Given the description of an element on the screen output the (x, y) to click on. 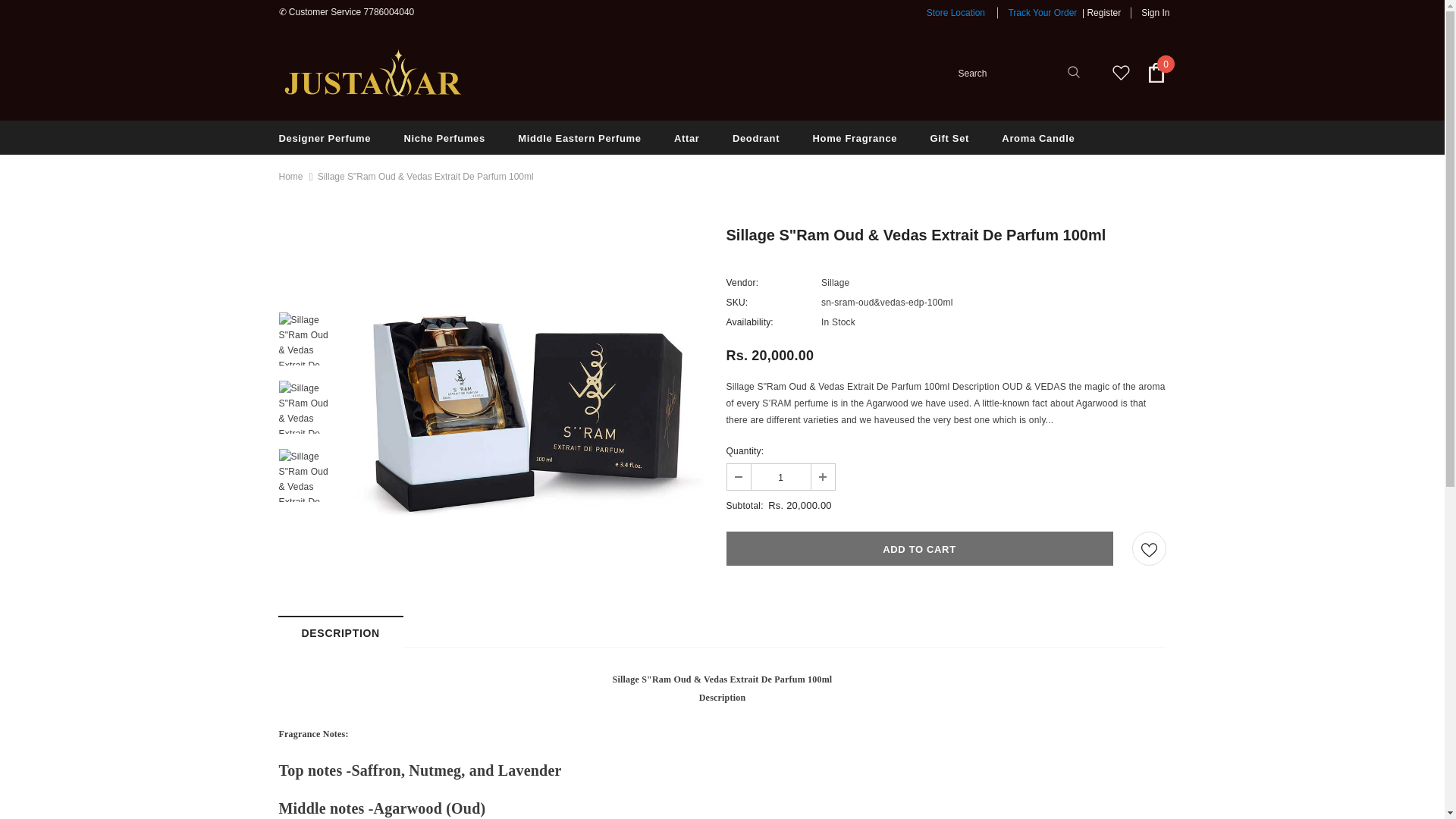
0 (1156, 72)
Logo (373, 72)
Sign In (1150, 12)
1 (780, 476)
Designer Perfume (325, 137)
Home (290, 176)
Gift Set (949, 137)
Aroma Candle (1037, 137)
Track Your Order (1042, 12)
Add to cart (919, 548)
